Given the description of an element on the screen output the (x, y) to click on. 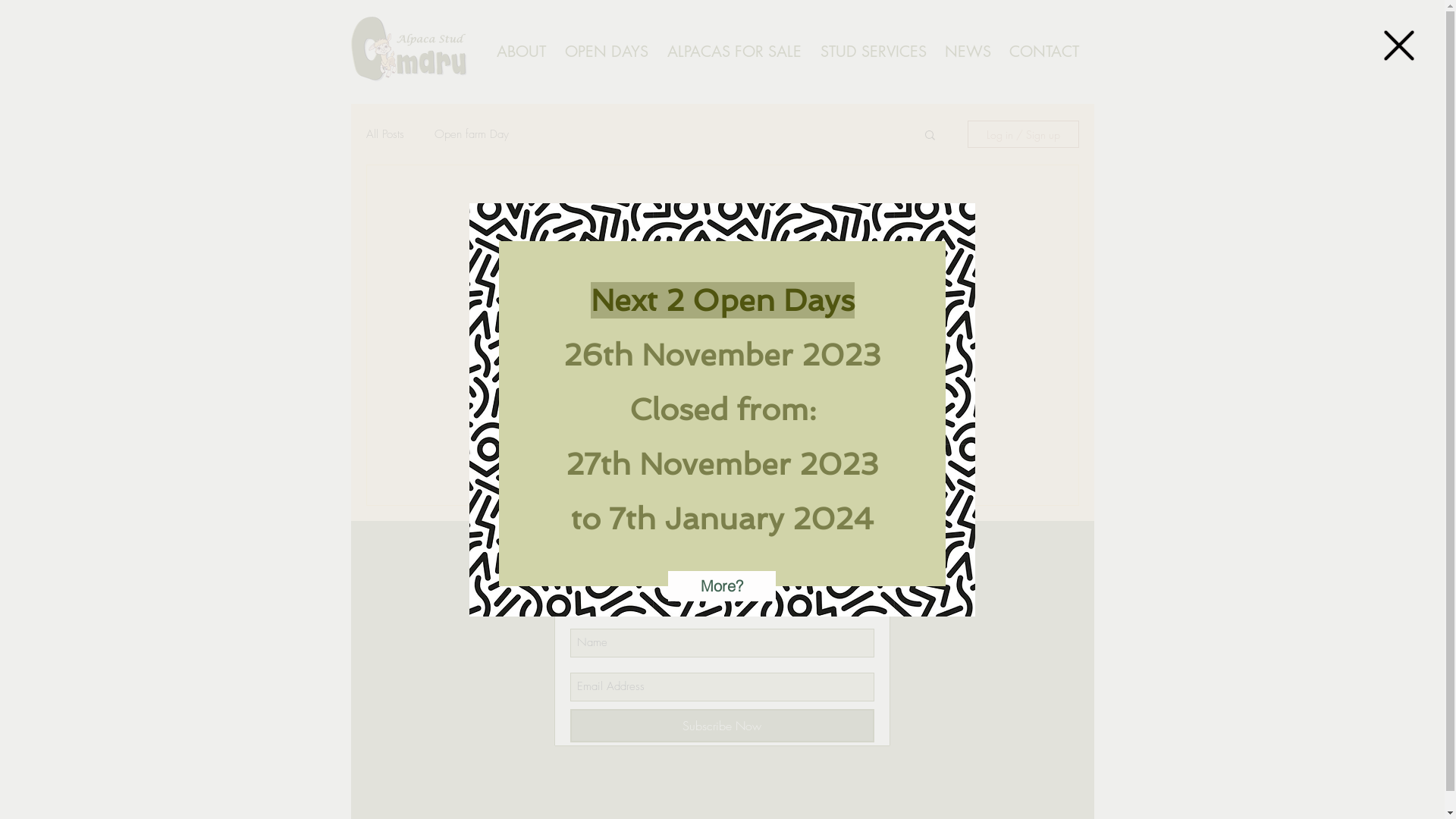
CONTACT Element type: text (1043, 51)
Back to site Element type: hover (1398, 45)
NEWS Element type: text (967, 51)
Open farm Day Element type: text (470, 133)
ABOUT Element type: text (520, 51)
More? Element type: text (721, 585)
Subscribe Now Element type: text (722, 725)
See More Posts Element type: text (722, 385)
STUD SERVICES Element type: text (873, 51)
All Posts Element type: text (384, 133)
Log in / Sign up Element type: text (1023, 133)
